Given the description of an element on the screen output the (x, y) to click on. 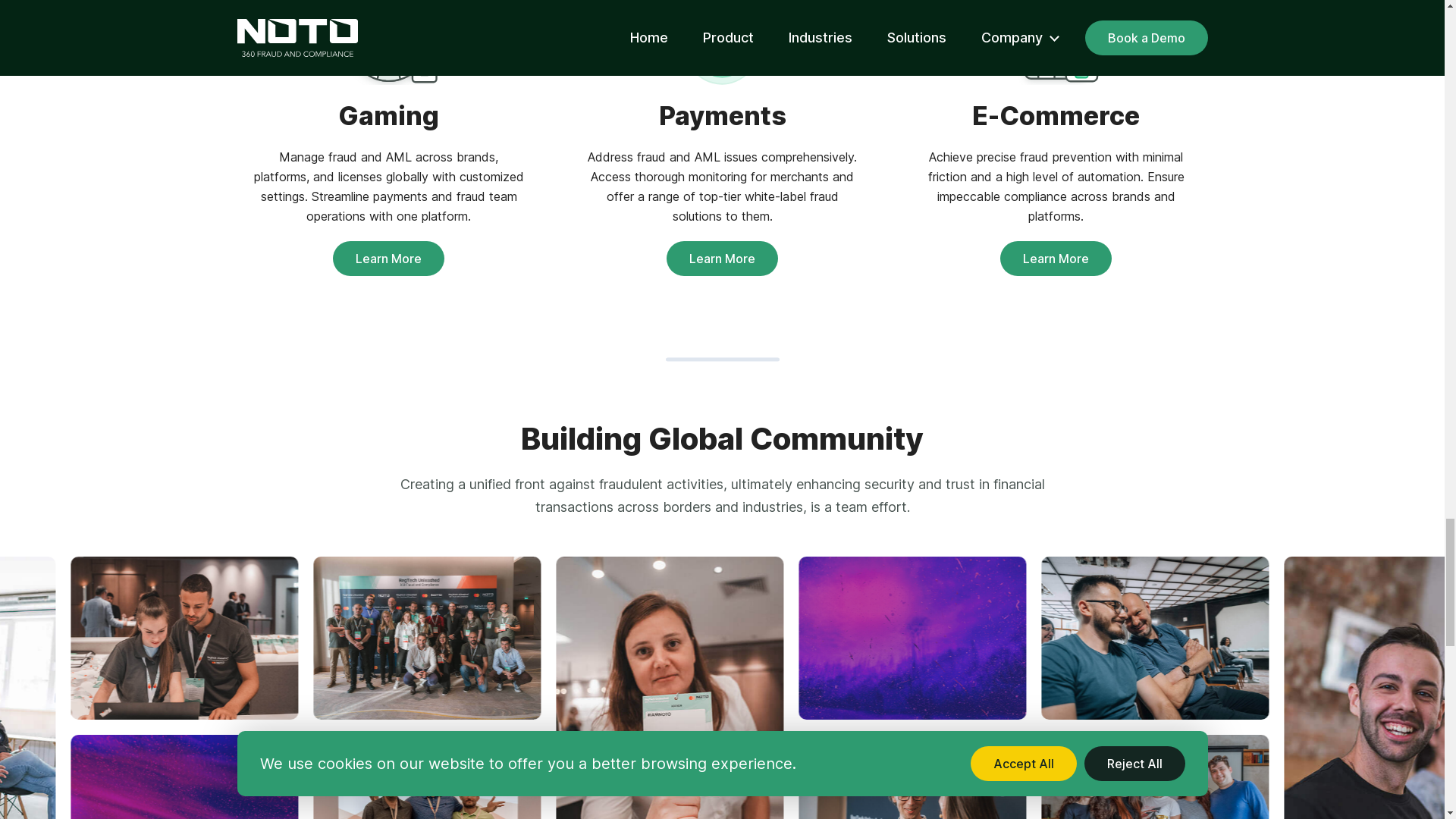
Learn More (388, 258)
Learn More (1056, 258)
Learn More (721, 258)
